Given the description of an element on the screen output the (x, y) to click on. 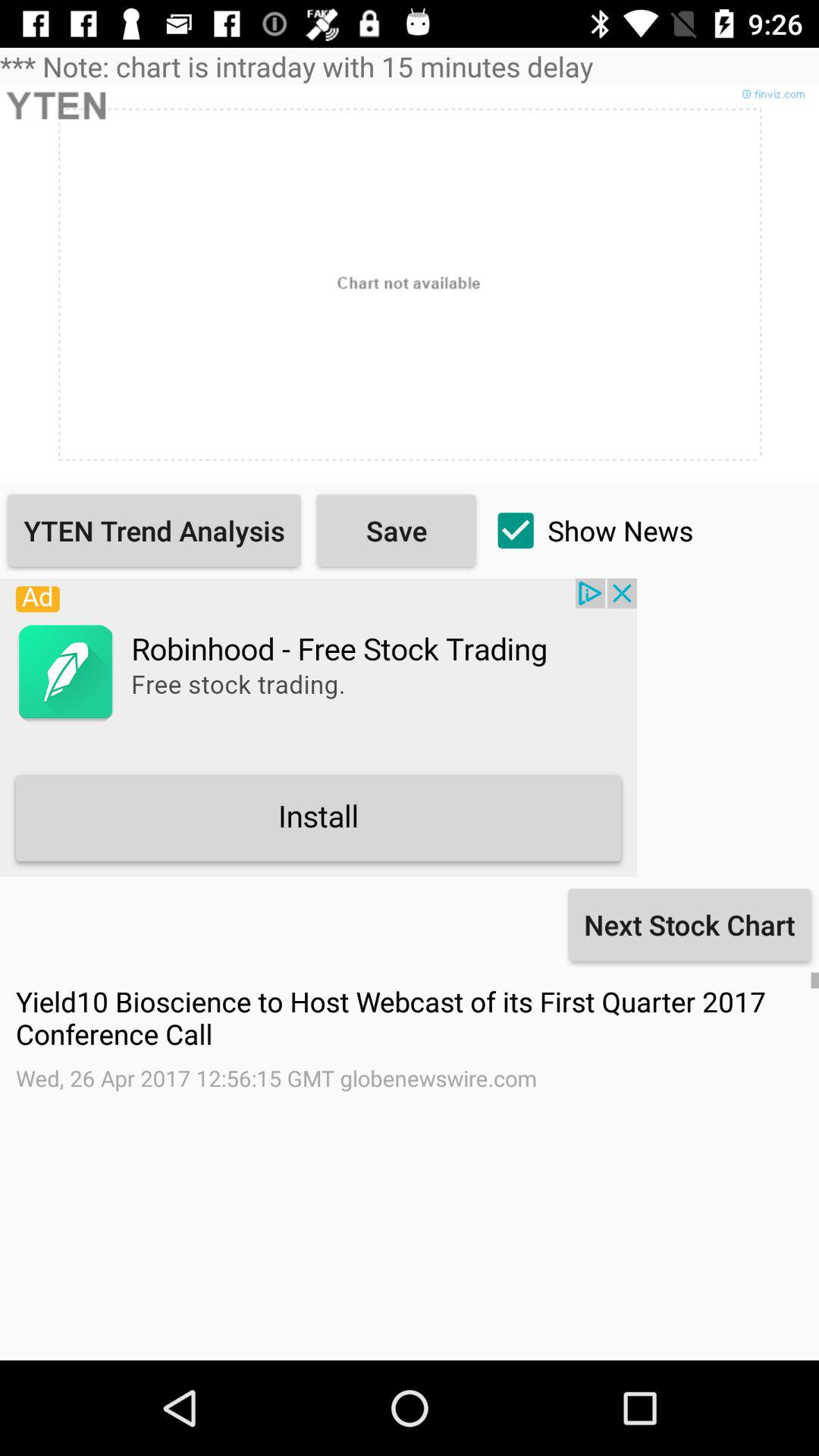
install app (318, 727)
